Given the description of an element on the screen output the (x, y) to click on. 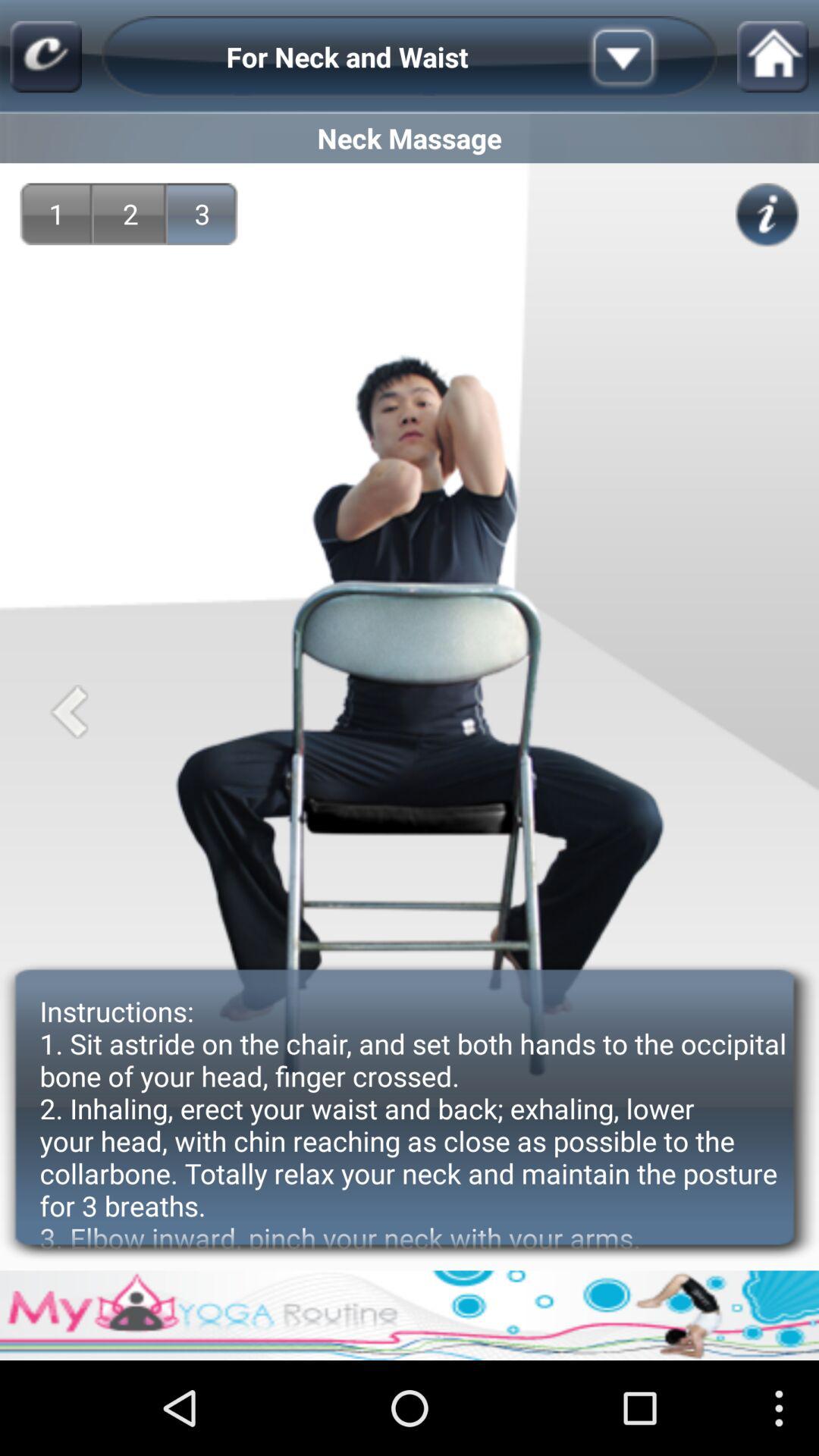
down button (646, 56)
